Given the description of an element on the screen output the (x, y) to click on. 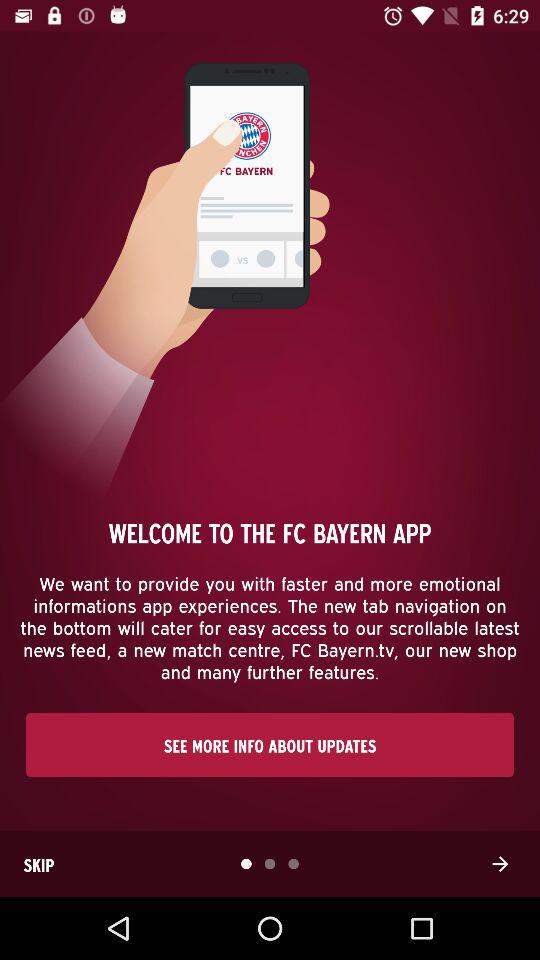
open item next to the skip (500, 864)
